Given the description of an element on the screen output the (x, y) to click on. 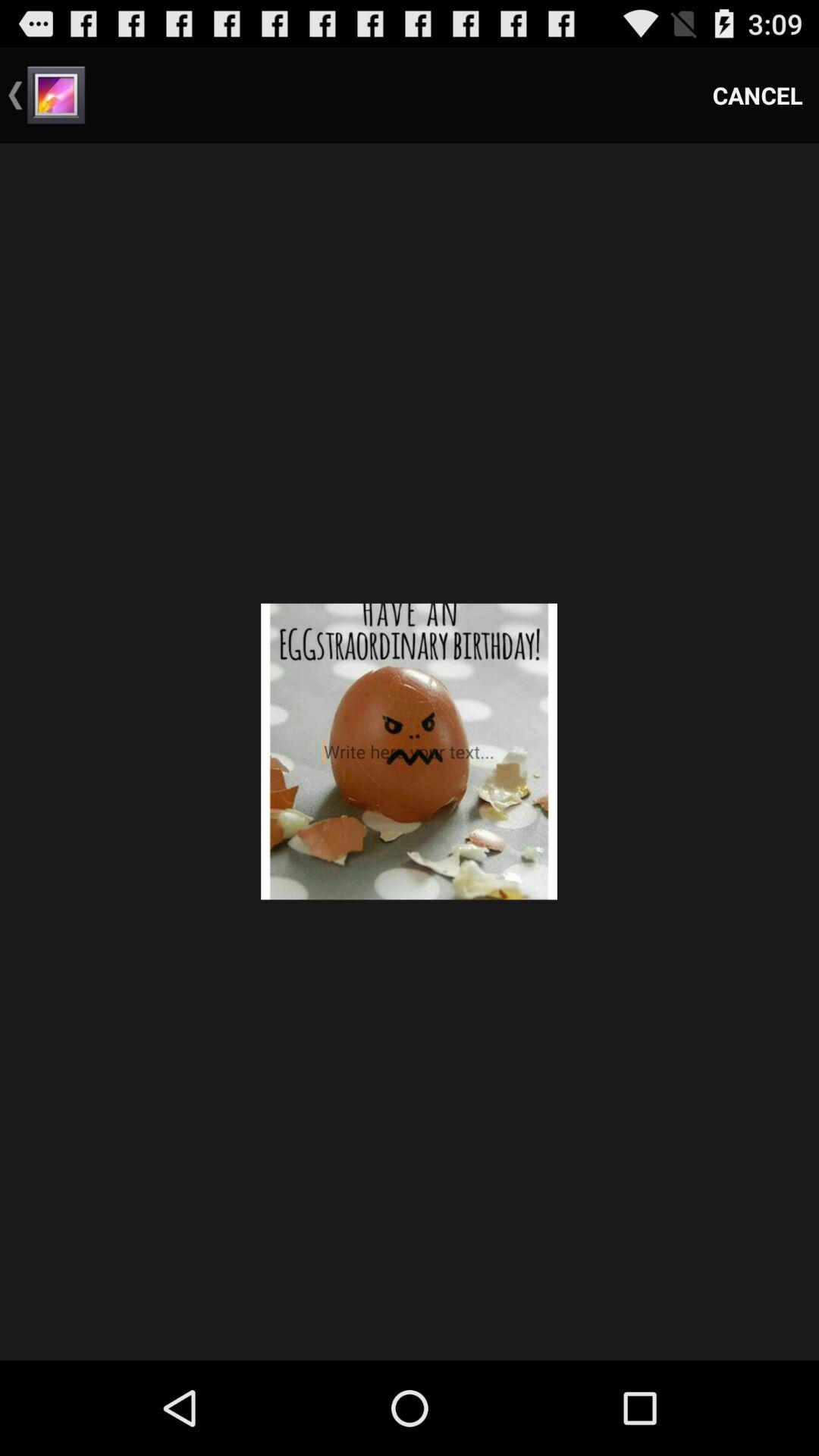
swipe until cancel (757, 95)
